Given the description of an element on the screen output the (x, y) to click on. 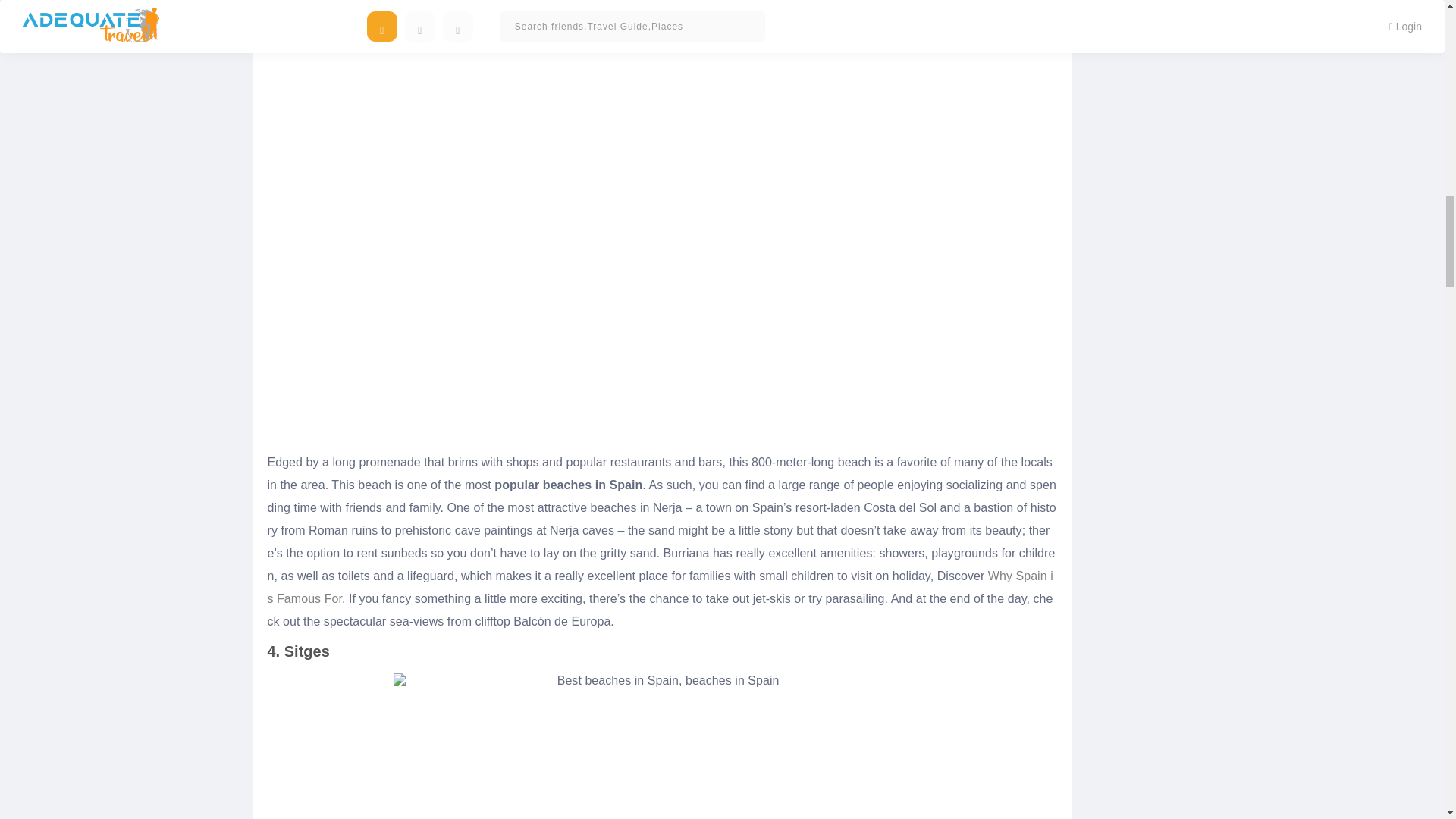
Beaches in Spain (661, 746)
Why Spain is Famous For (659, 587)
